Given the description of an element on the screen output the (x, y) to click on. 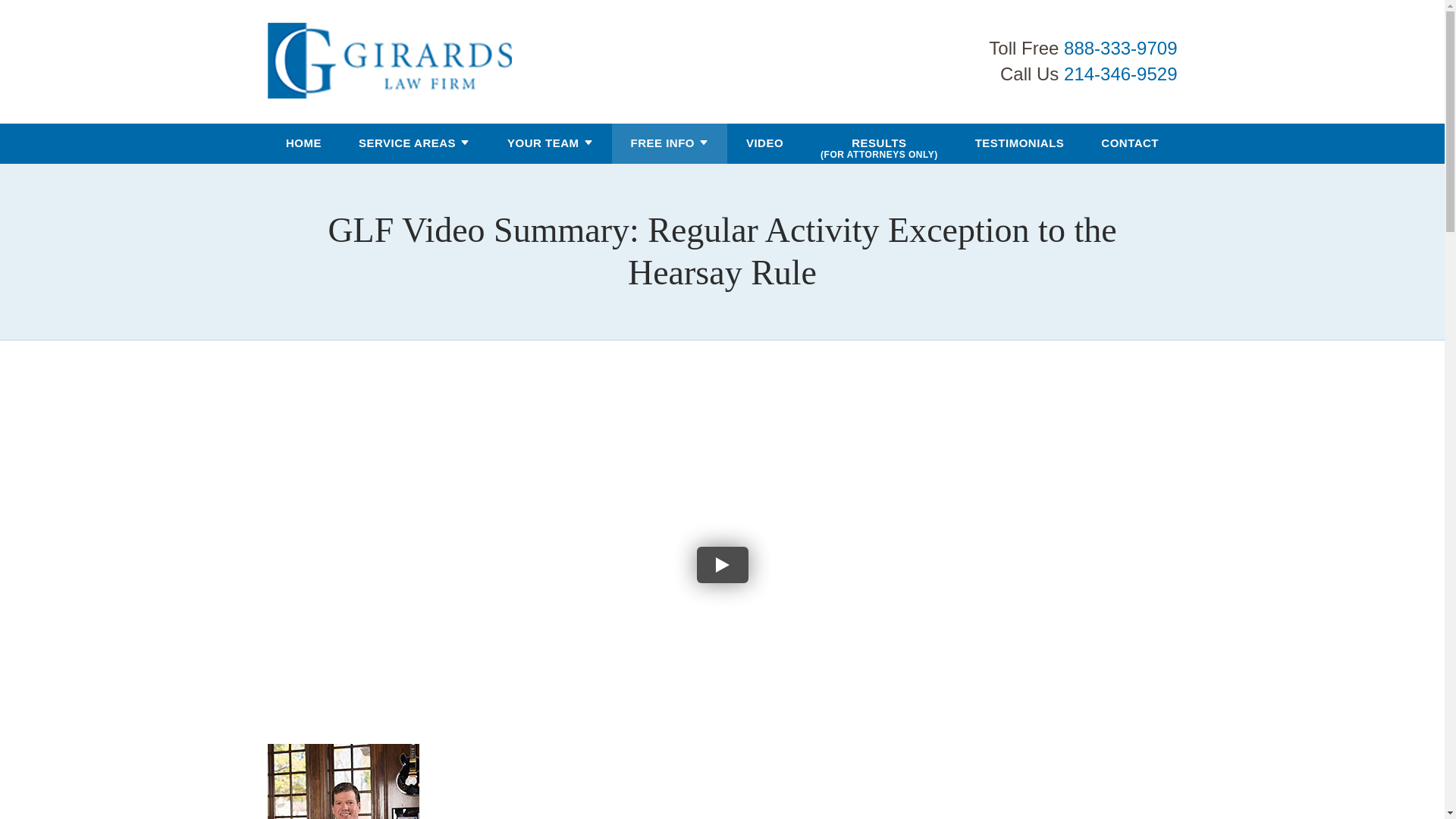
TESTIMONIALS (1019, 143)
VIDEO (764, 143)
888-333-9709 (1120, 47)
214-346-9529 (1120, 73)
YOUR TEAM (542, 143)
SERVICE AREAS (406, 143)
call local (1120, 73)
FREE INFO (662, 143)
CONTACT (1129, 143)
call tollfree (1120, 47)
